Given the description of an element on the screen output the (x, y) to click on. 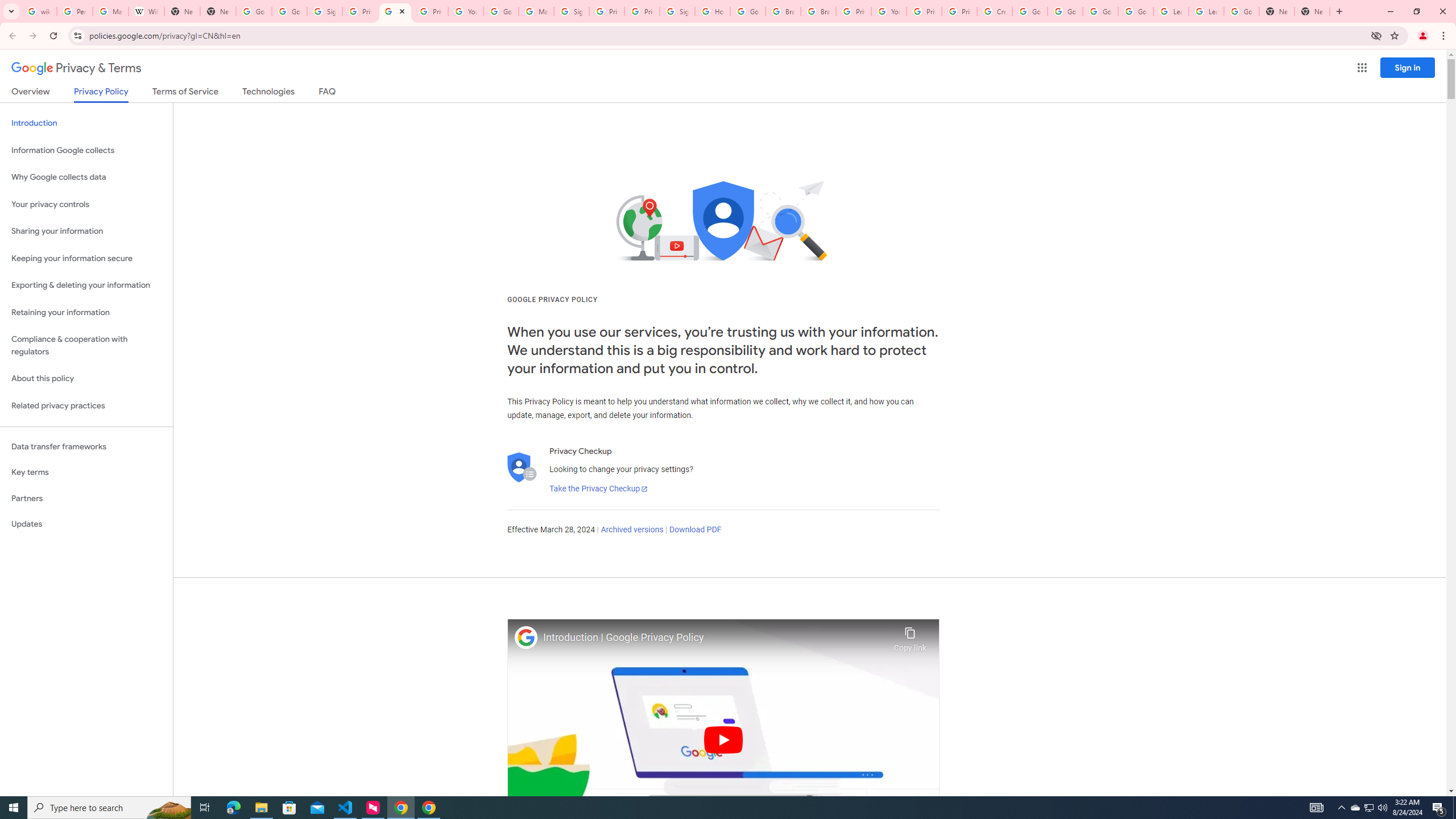
Sign in - Google Accounts (677, 11)
Google Account Help (1135, 11)
Google Account (1240, 11)
Play (723, 739)
Copy link (909, 636)
